Given the description of an element on the screen output the (x, y) to click on. 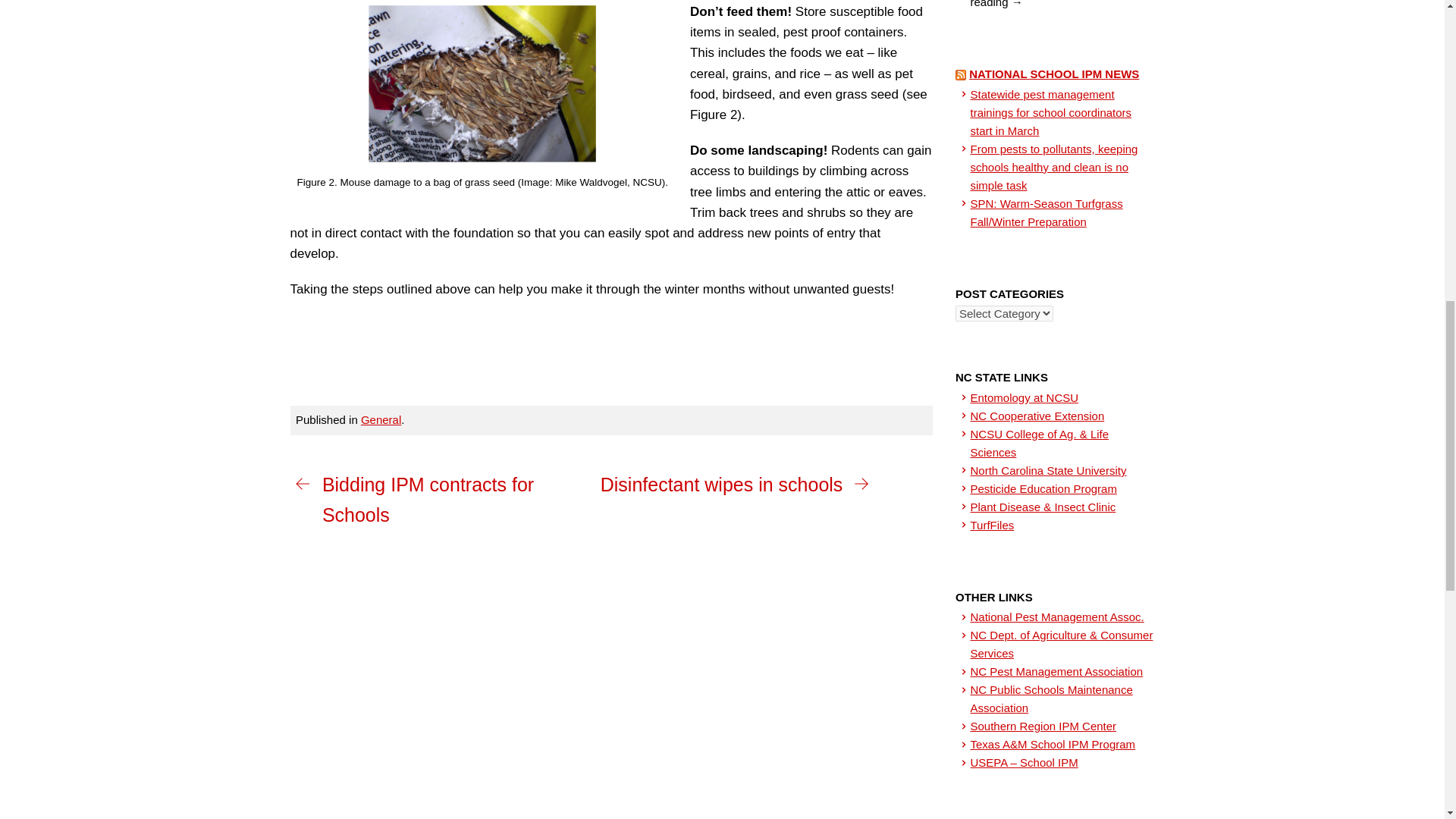
The Entomology Program as NC State University (1024, 397)
Information about common weeds, diseases and insects in turf (992, 524)
Find your county Cooperative Extension Center (1038, 415)
